Given the description of an element on the screen output the (x, y) to click on. 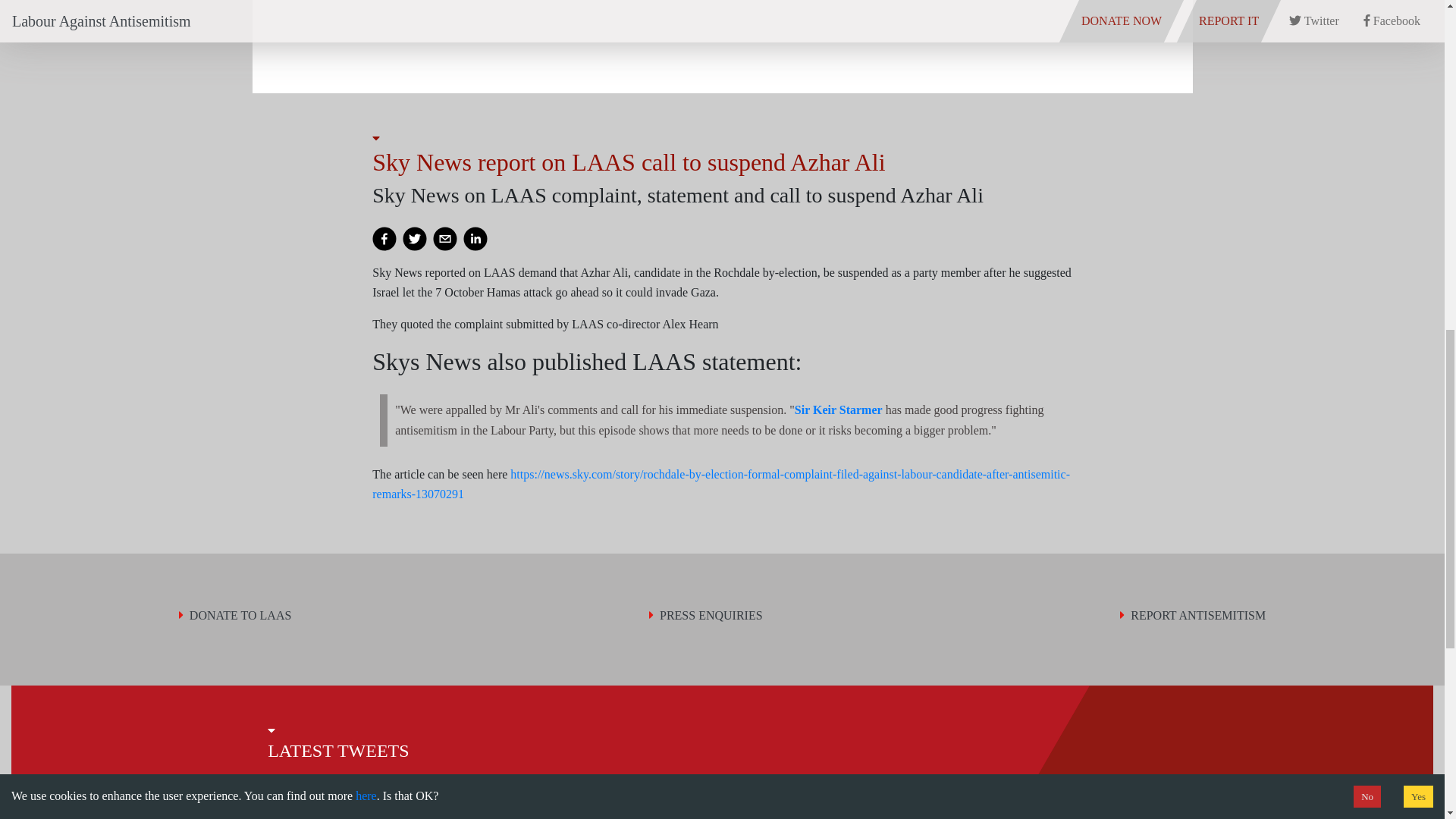
Sir Keir Starmer (838, 409)
PRESS ENQUIRIES (705, 615)
REPORT ANTISEMITISM (1192, 615)
DONATE TO LAAS (235, 615)
